Given the description of an element on the screen output the (x, y) to click on. 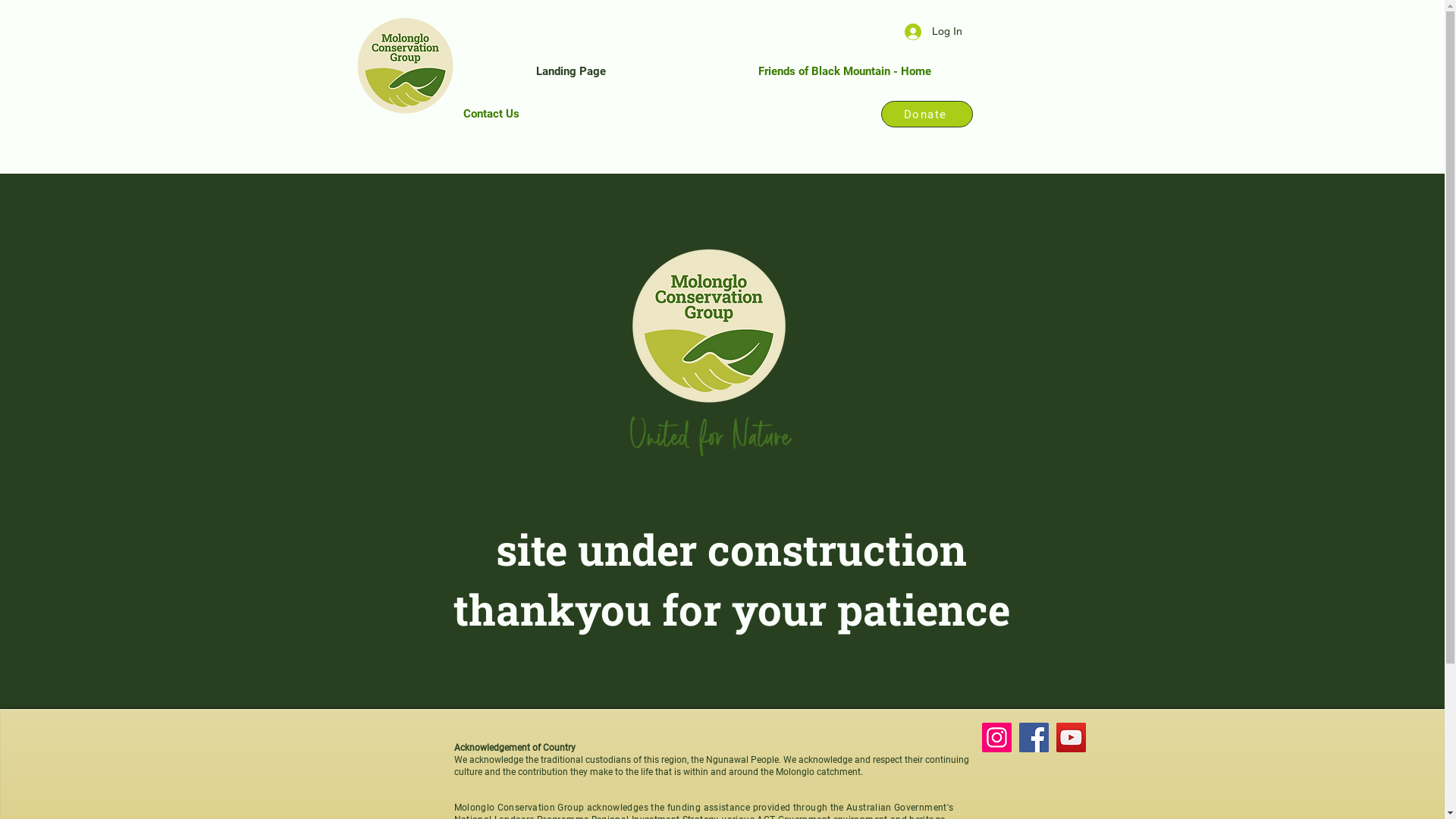
Friends of Black Mountain - Home Element type: text (845, 70)
Donate Element type: text (926, 113)
Log In Element type: text (932, 31)
Landing Page Element type: text (570, 70)
Contact Us Element type: text (490, 113)
